Given the description of an element on the screen output the (x, y) to click on. 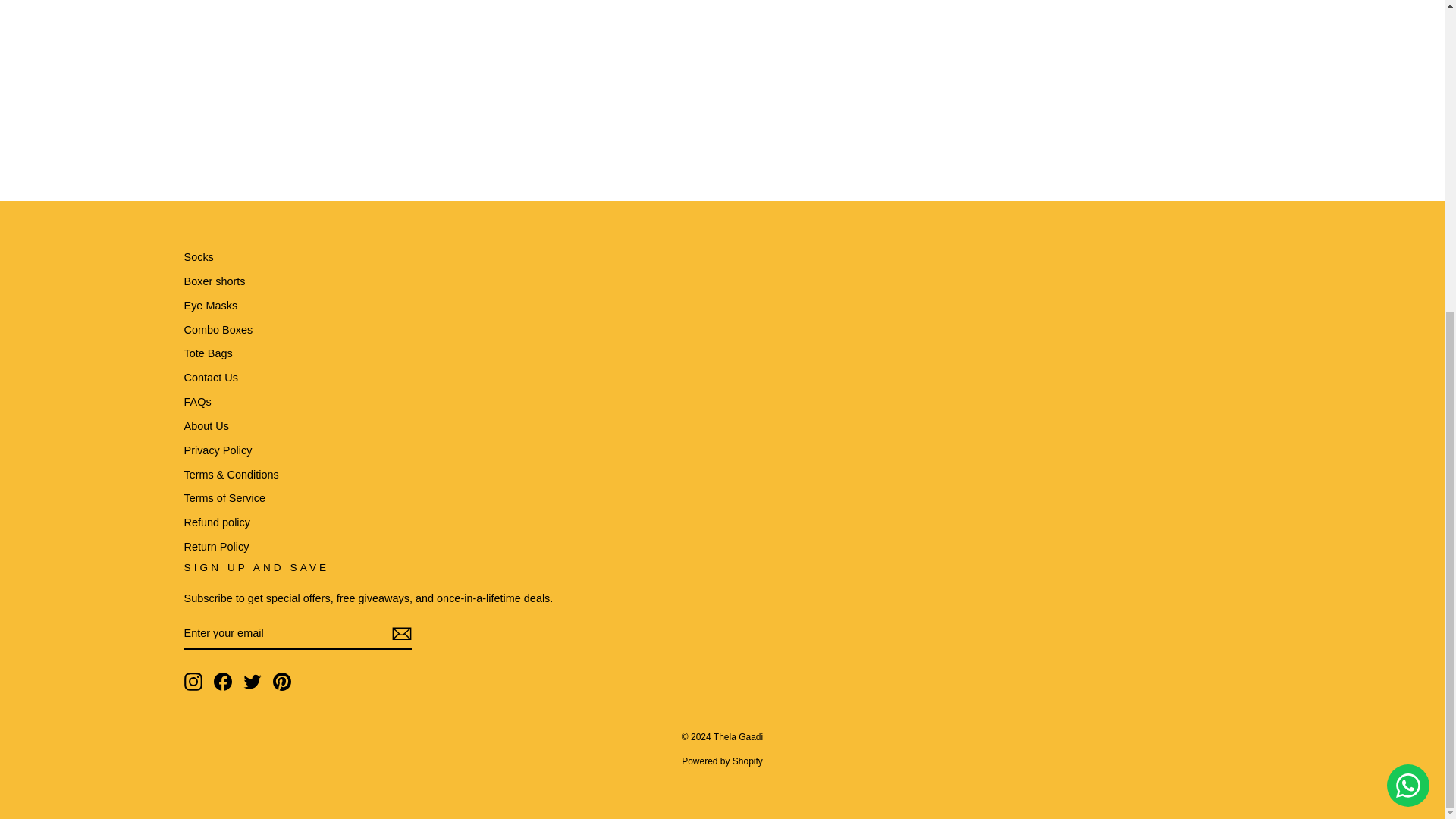
Thela Gaadi on Twitter (251, 681)
Thela Gaadi on Instagram (192, 681)
WhatsApp (1408, 287)
Thela Gaadi on Pinterest (282, 681)
icon-email (400, 633)
Thela Gaadi on Facebook (222, 681)
twitter (251, 681)
instagram (192, 681)
